Given the description of an element on the screen output the (x, y) to click on. 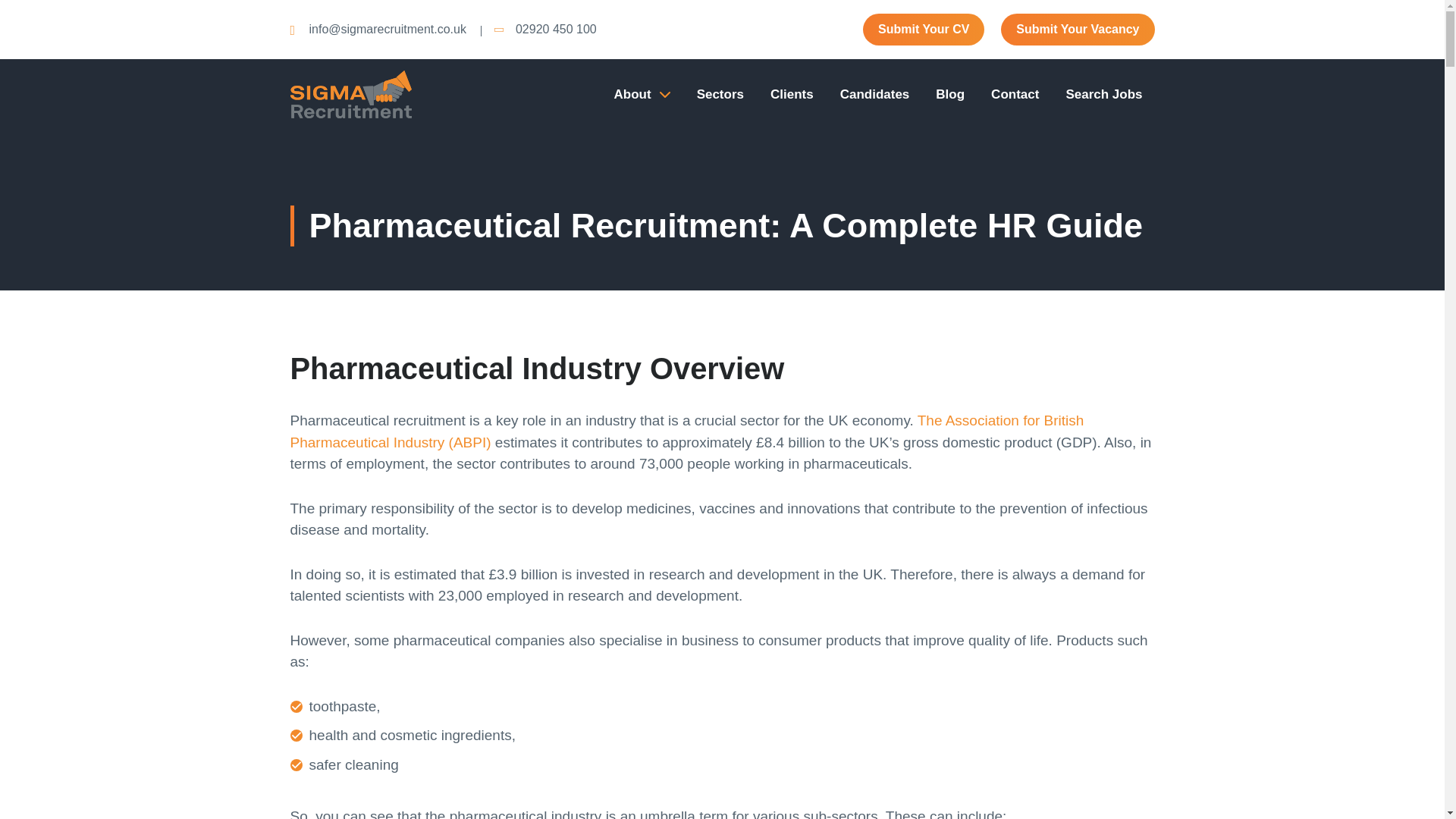
Search Jobs (1103, 94)
02920 450 100 (553, 29)
Candidates (875, 94)
Submit Your CV (923, 29)
Clients (791, 94)
Contact (1015, 94)
Blog (949, 94)
Submit Your Vacancy (1077, 29)
Sectors (720, 94)
About (641, 94)
